Given the description of an element on the screen output the (x, y) to click on. 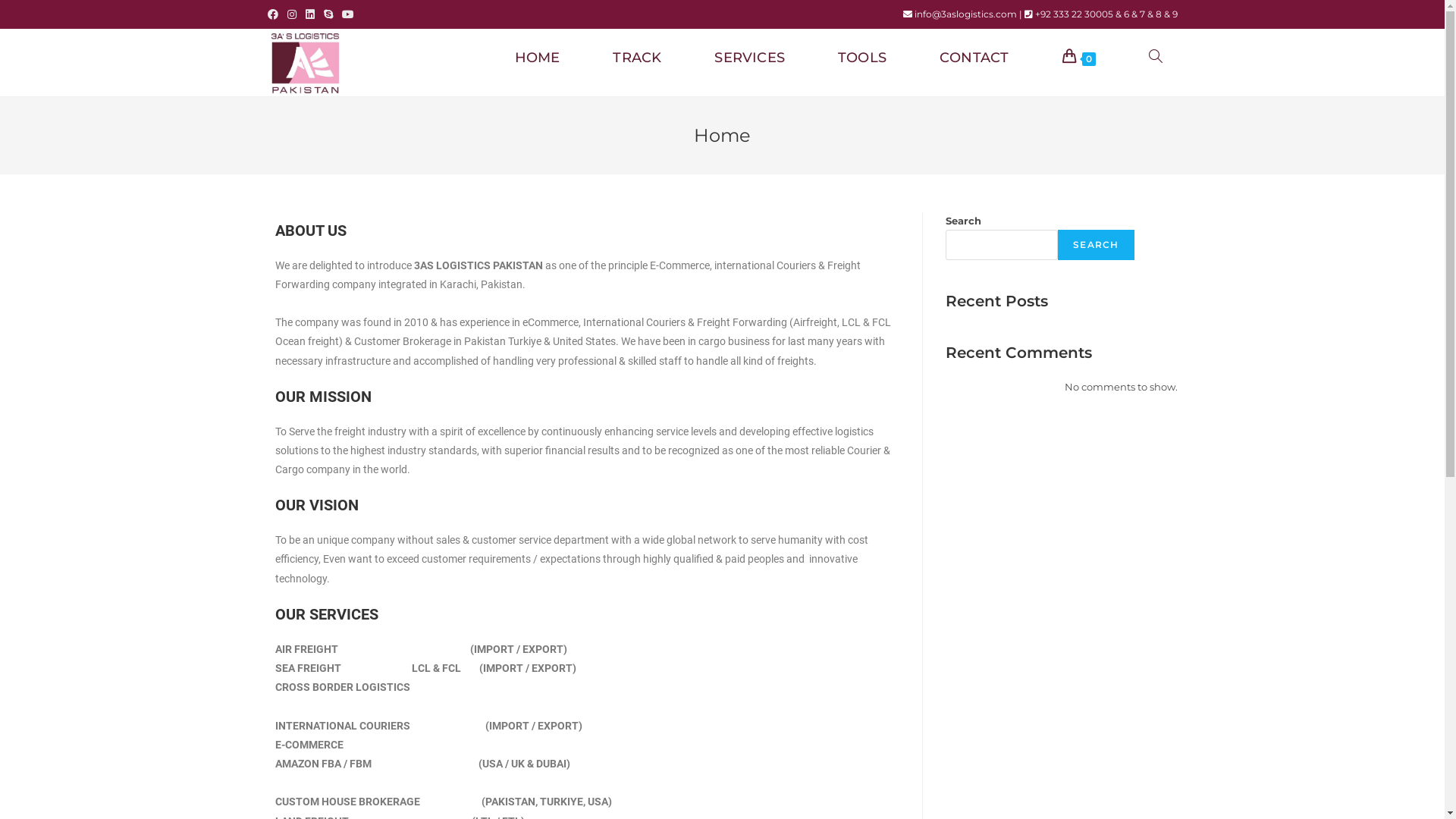
0 Element type: text (1078, 57)
TRACK Element type: text (636, 57)
SEARCH Element type: text (1095, 244)
TOOLS Element type: text (862, 57)
CONTACT Element type: text (974, 57)
HOME Element type: text (537, 57)
SERVICES Element type: text (749, 57)
